Given the description of an element on the screen output the (x, y) to click on. 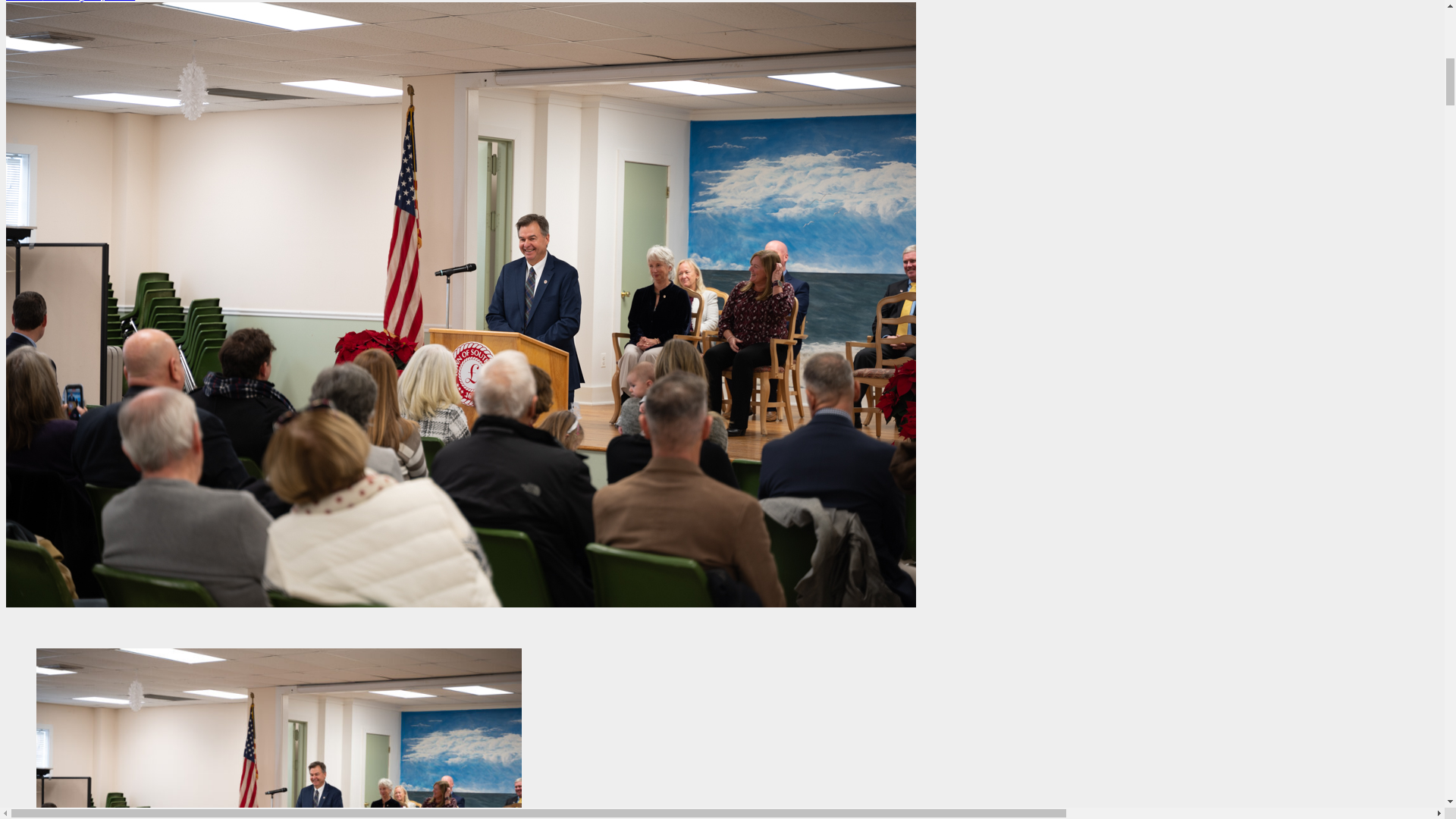
February 29, 2024 (88, 0)
Admin (23, 0)
